Given the description of an element on the screen output the (x, y) to click on. 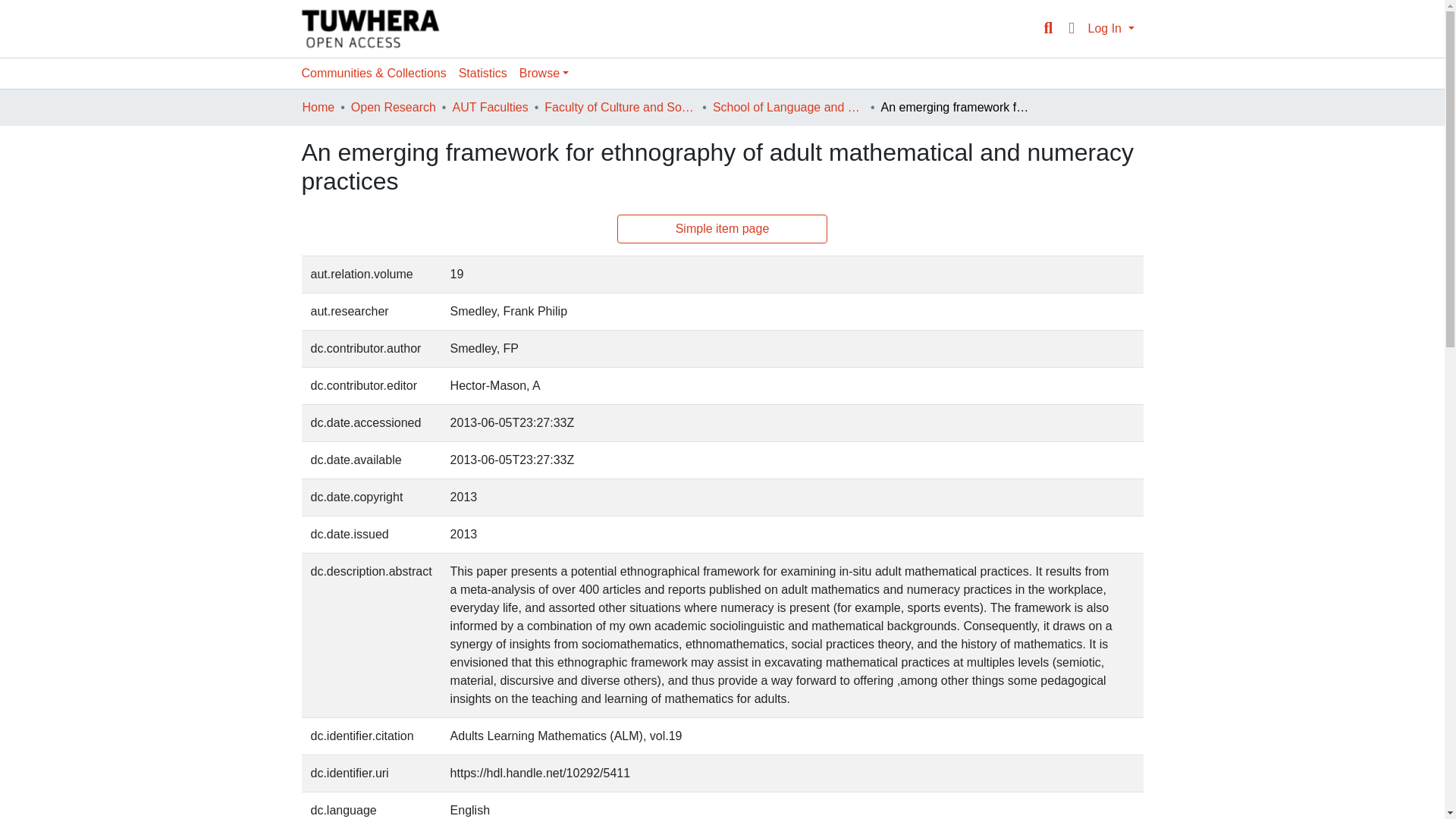
Search (1048, 28)
Statistics (482, 73)
Home (317, 107)
School of Language and Culture (788, 107)
Browse (544, 73)
Faculty of Culture and Society (619, 107)
Open Research (392, 107)
Statistics (482, 73)
Simple item page (722, 228)
Language switch (1071, 28)
